Given the description of an element on the screen output the (x, y) to click on. 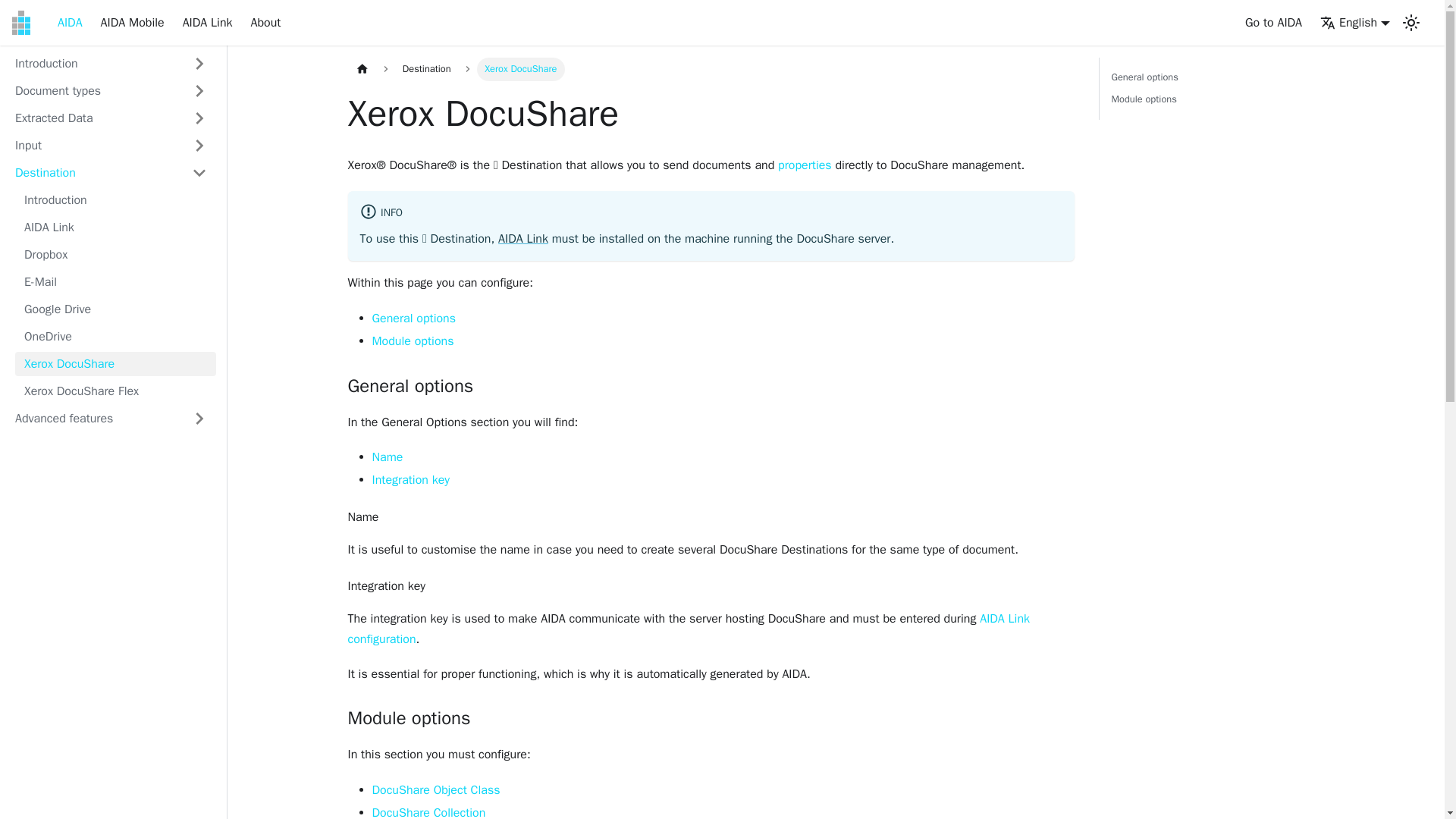
Integration key (410, 479)
English (1355, 22)
E-Mail (114, 282)
AIDA Link (522, 238)
OneDrive (114, 336)
Extracted Data (110, 118)
Xerox DocuShare Flex (114, 391)
Module options (411, 340)
Name (387, 457)
AIDA Mobile (132, 22)
Go to AIDA (1273, 22)
Google Drive (114, 309)
AIDA (1210, 88)
Advanced features (69, 22)
